Given the description of an element on the screen output the (x, y) to click on. 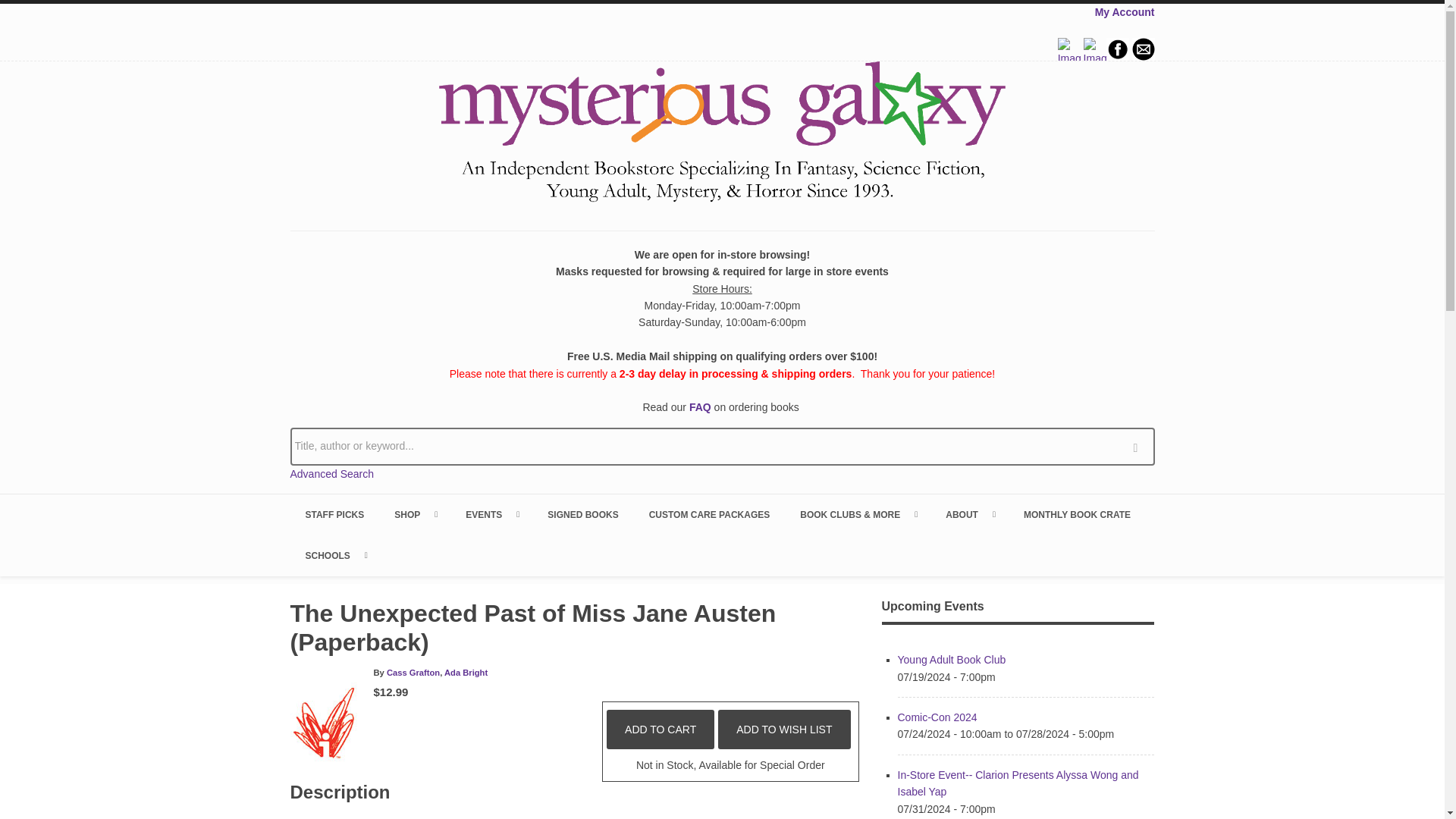
Title, author or keyword... (721, 446)
My Account (1124, 11)
Advanced Search (331, 473)
Home (722, 134)
Add to Cart (660, 729)
STAFF PICKS (333, 514)
EVENTS (490, 514)
Add to Wish List (783, 729)
FAQ (699, 407)
SHOP (413, 514)
